Given the description of an element on the screen output the (x, y) to click on. 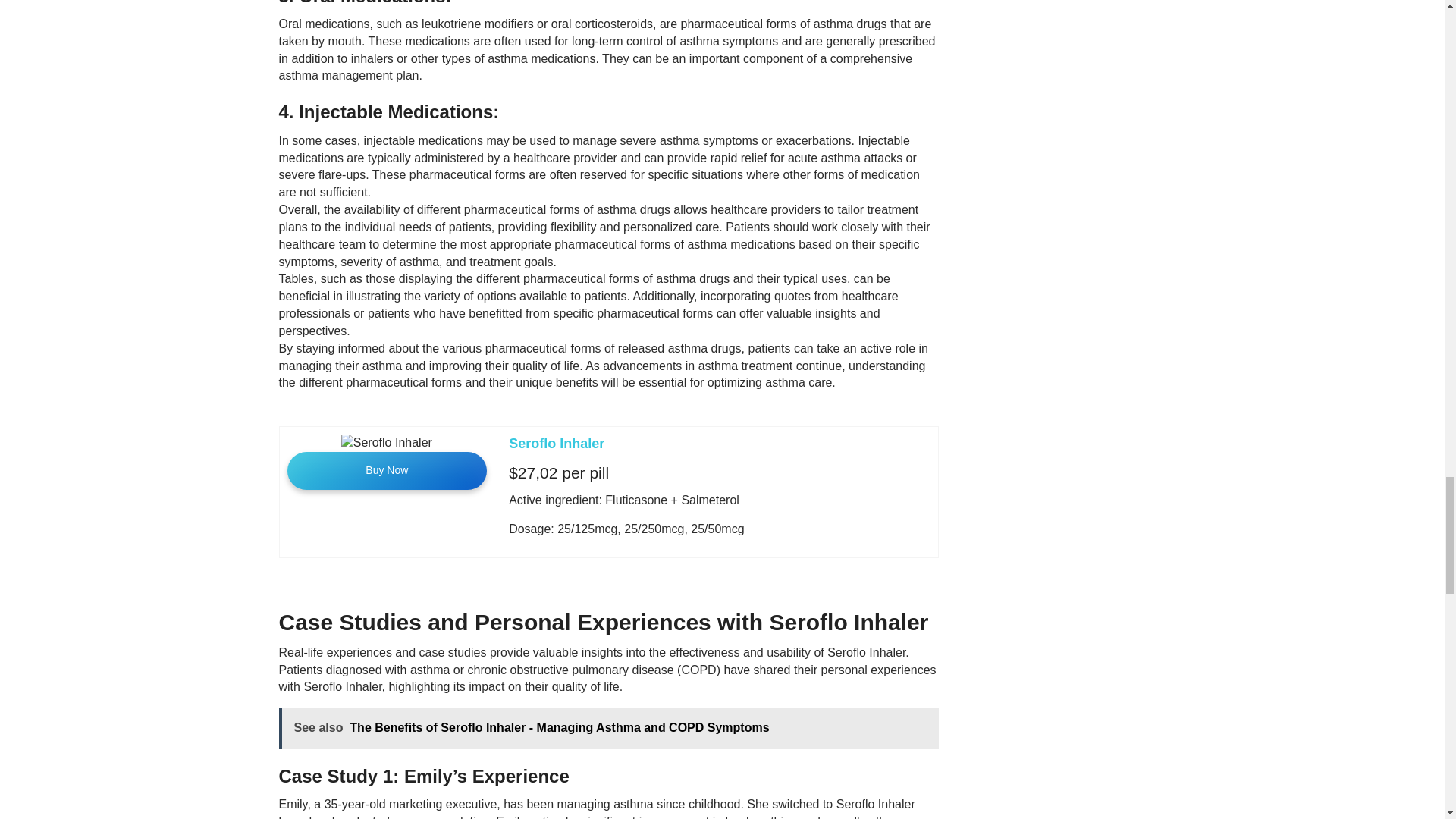
Buy Now (386, 470)
Seroflo Inhaler (556, 443)
Seroflo Inhaler (556, 443)
Buy Now (386, 470)
